Given the description of an element on the screen output the (x, y) to click on. 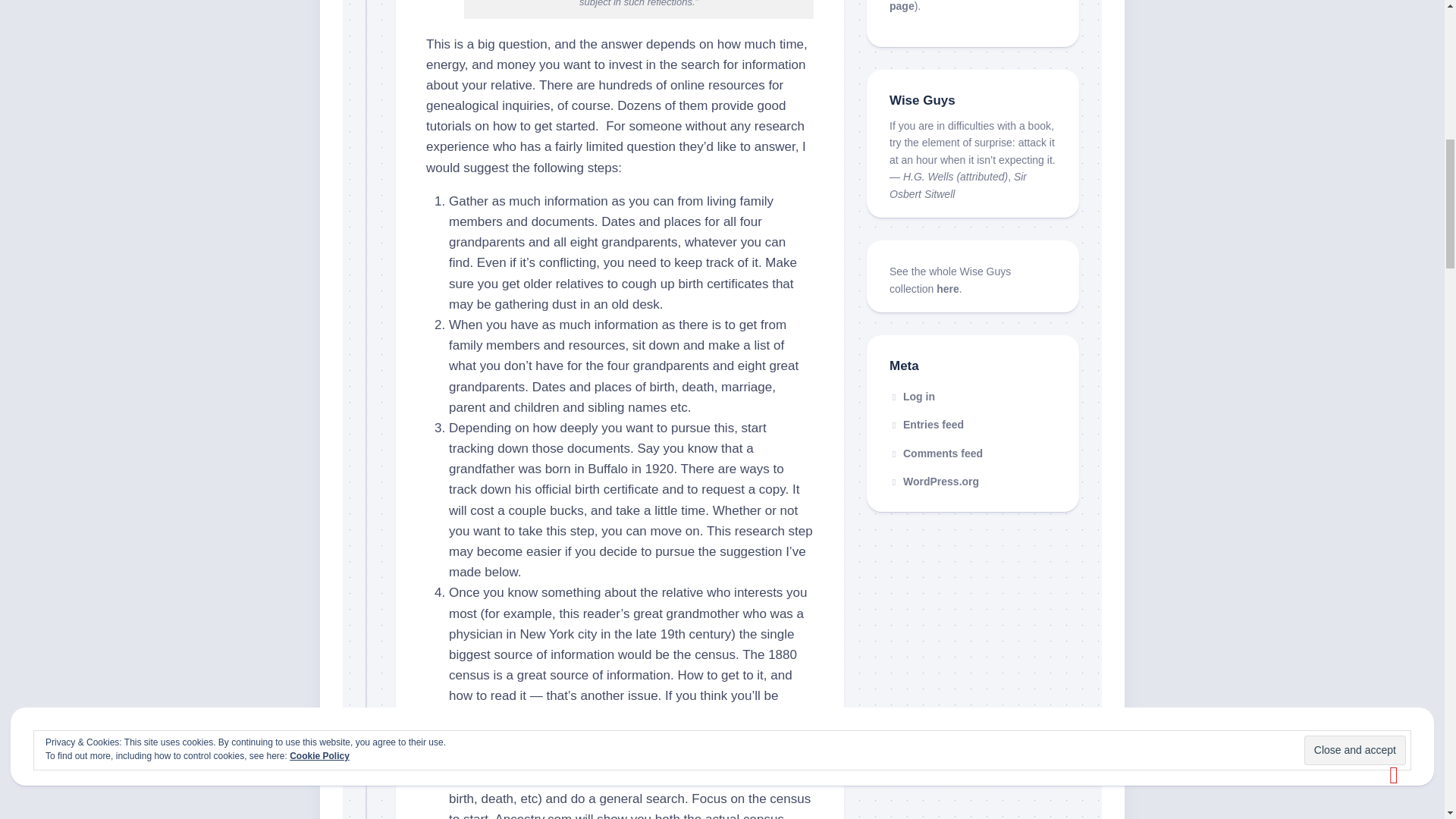
here (947, 288)
FAQ page (961, 6)
Log in (911, 396)
